Given the description of an element on the screen output the (x, y) to click on. 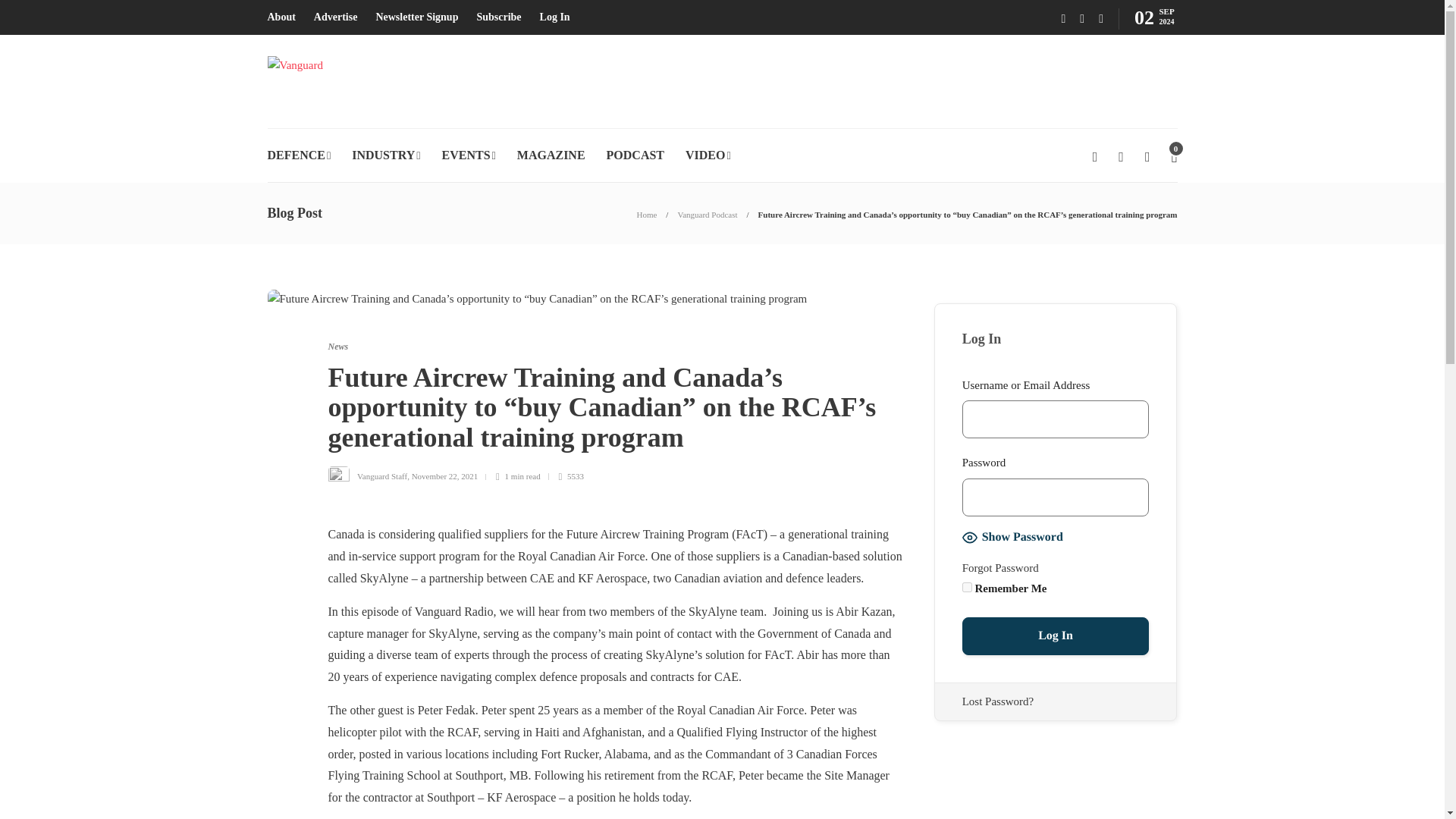
Subscribe (498, 17)
Newsletter Signup (416, 17)
Log In (1056, 636)
Log In (555, 17)
About (280, 17)
forever (967, 587)
DEFENCE (298, 154)
Home (646, 214)
Advertise (336, 17)
